Given the description of an element on the screen output the (x, y) to click on. 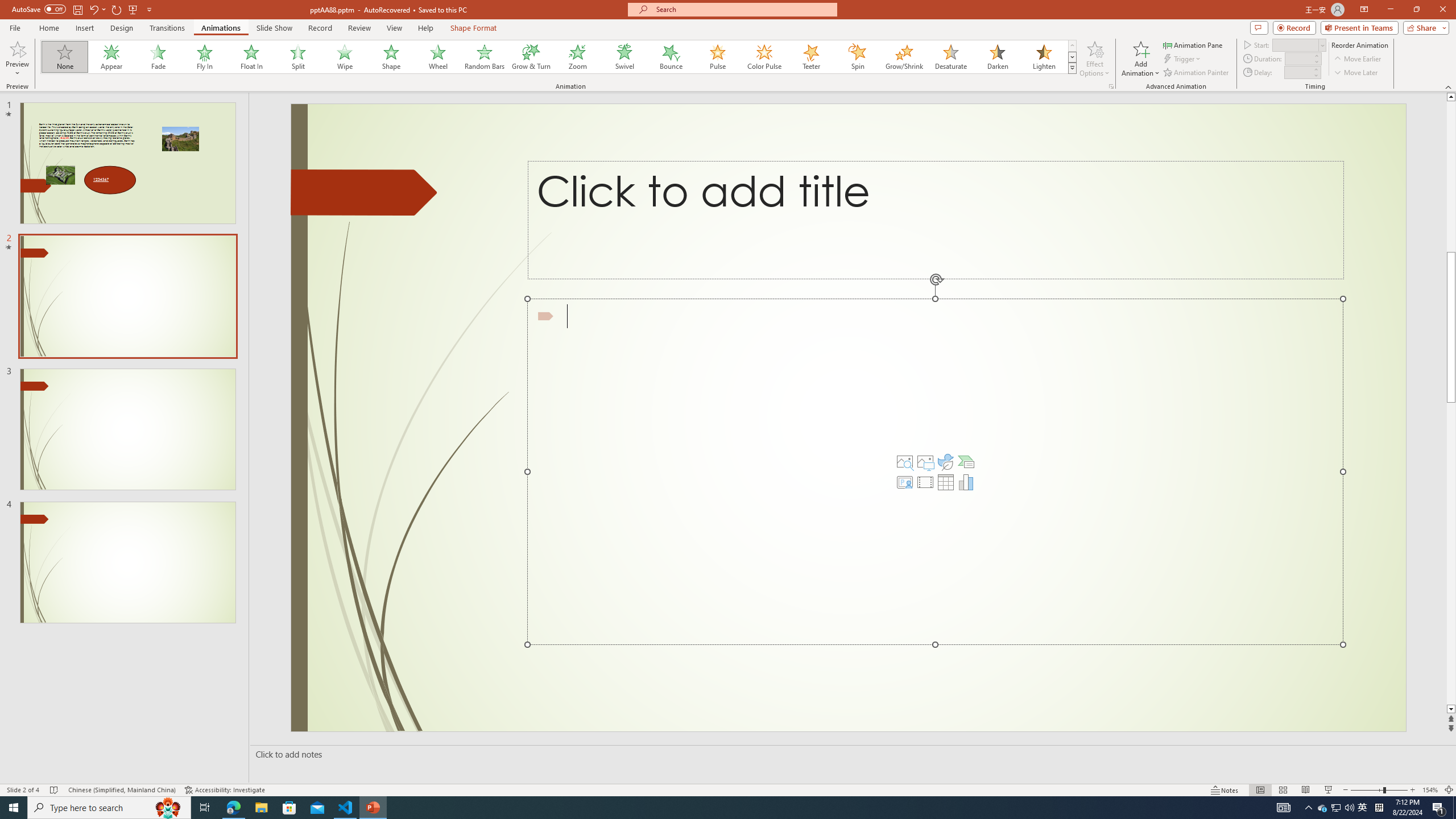
Fly In (205, 56)
Wheel (437, 56)
Pulse (717, 56)
Grow & Turn (531, 56)
